Given the description of an element on the screen output the (x, y) to click on. 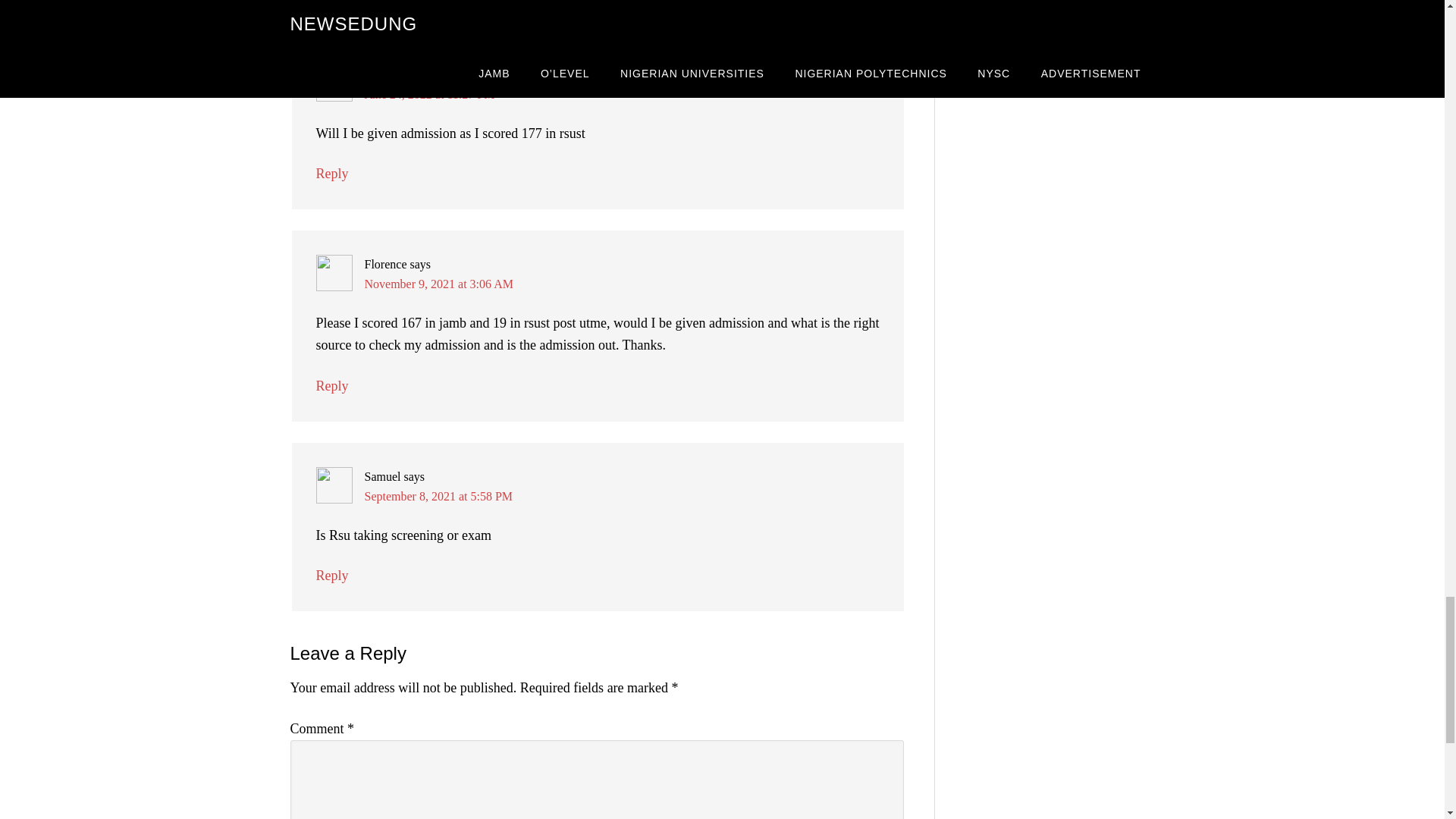
November 9, 2021 at 3:06 AM (438, 283)
Reply (331, 575)
Reply (331, 385)
September 8, 2021 at 5:58 PM (438, 495)
Reply (331, 173)
June 24, 2022 at 11:27 PM (429, 93)
